Given the description of an element on the screen output the (x, y) to click on. 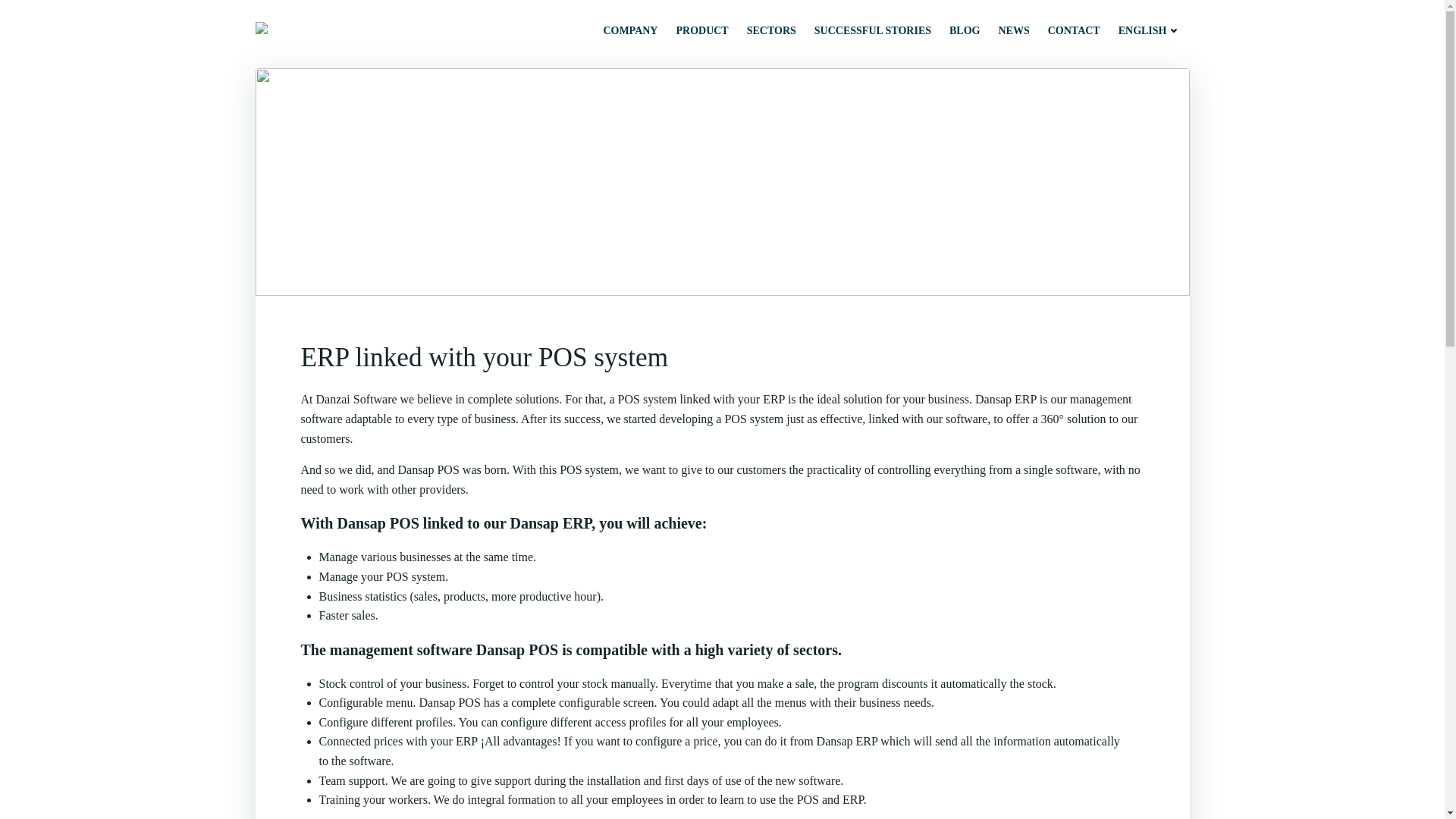
SECTORS (771, 30)
COMPANY (630, 30)
ENGLISH (1149, 30)
SUCCESSFUL STORIES (872, 30)
PRODUCT (701, 30)
NEWS (1013, 30)
BLOG (964, 30)
CONTACT (1074, 30)
ERP linked with your POS system (720, 357)
